Given the description of an element on the screen output the (x, y) to click on. 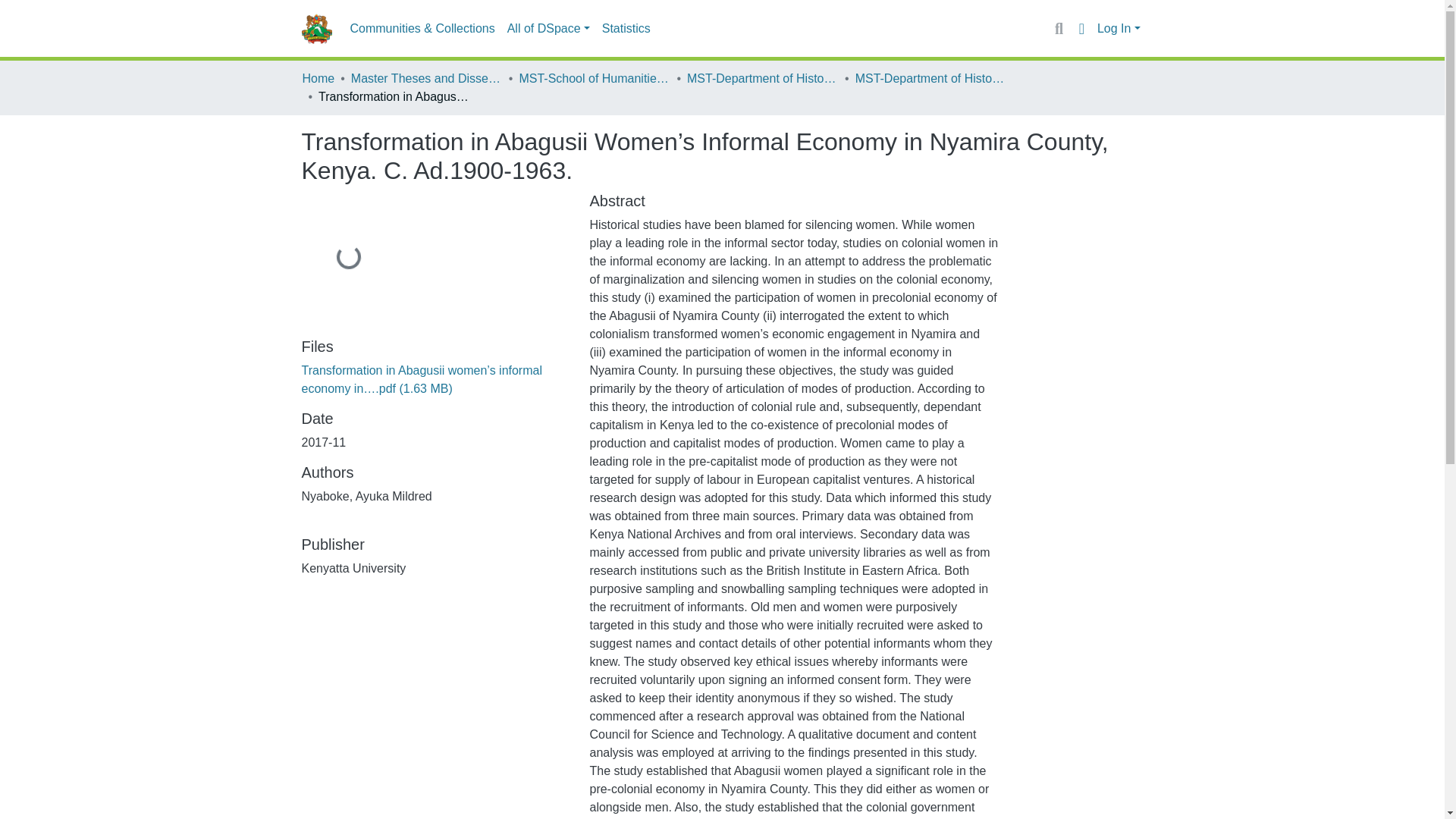
MST-Department of History, Archaeology and Political Studies (762, 78)
MST-School of Humanities and Social Sciences (593, 78)
Search (1058, 28)
Home (317, 78)
All of DSpace (547, 28)
Statistics (625, 28)
Statistics (625, 28)
Language switch (1081, 28)
Log In (1118, 28)
MST-Department of History, Archaeology and Political Studies (931, 78)
